Given the description of an element on the screen output the (x, y) to click on. 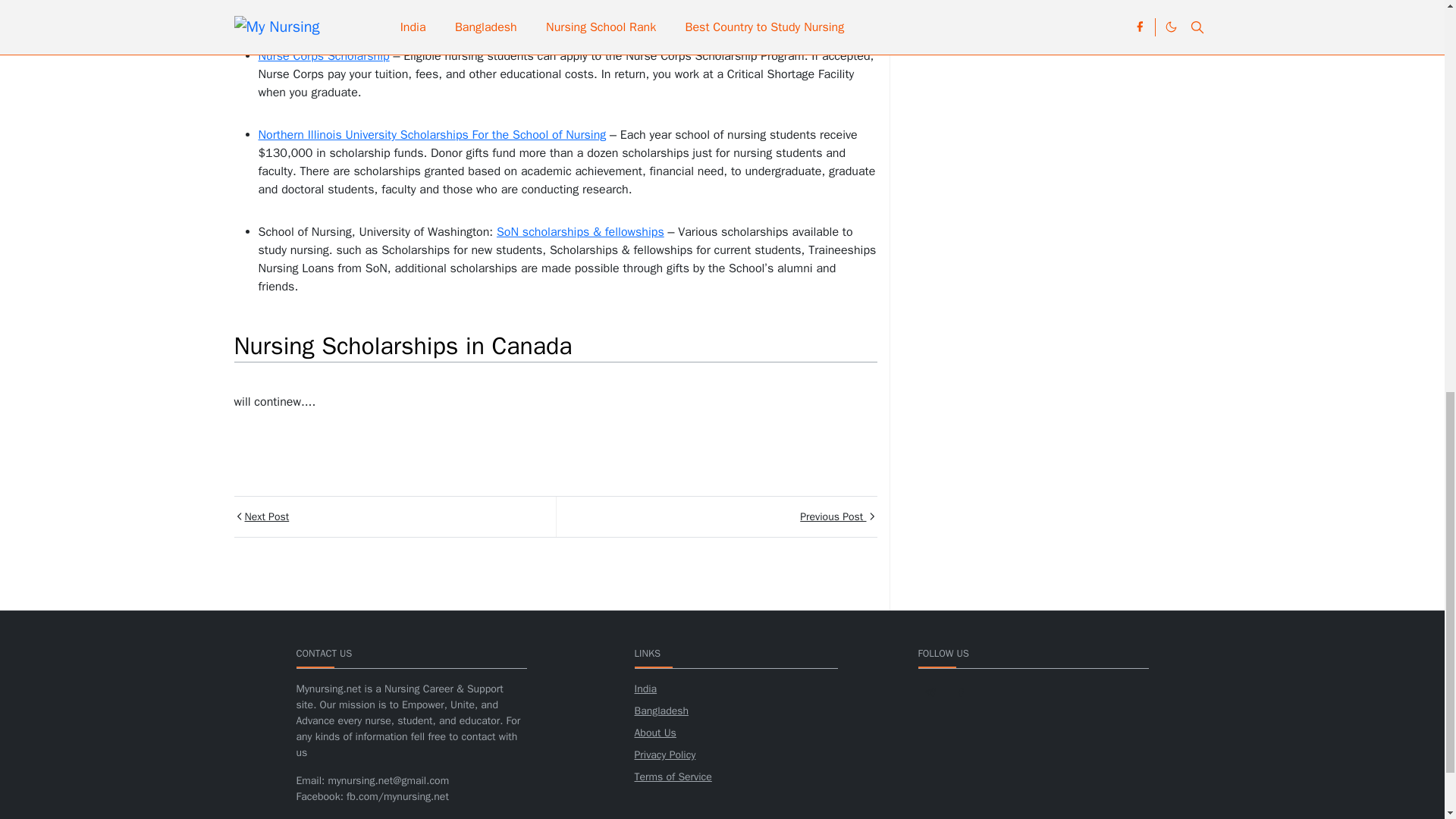
Next Post (393, 516)
Nurse Corps Scholarship (322, 55)
Previous Post (715, 516)
